Given the description of an element on the screen output the (x, y) to click on. 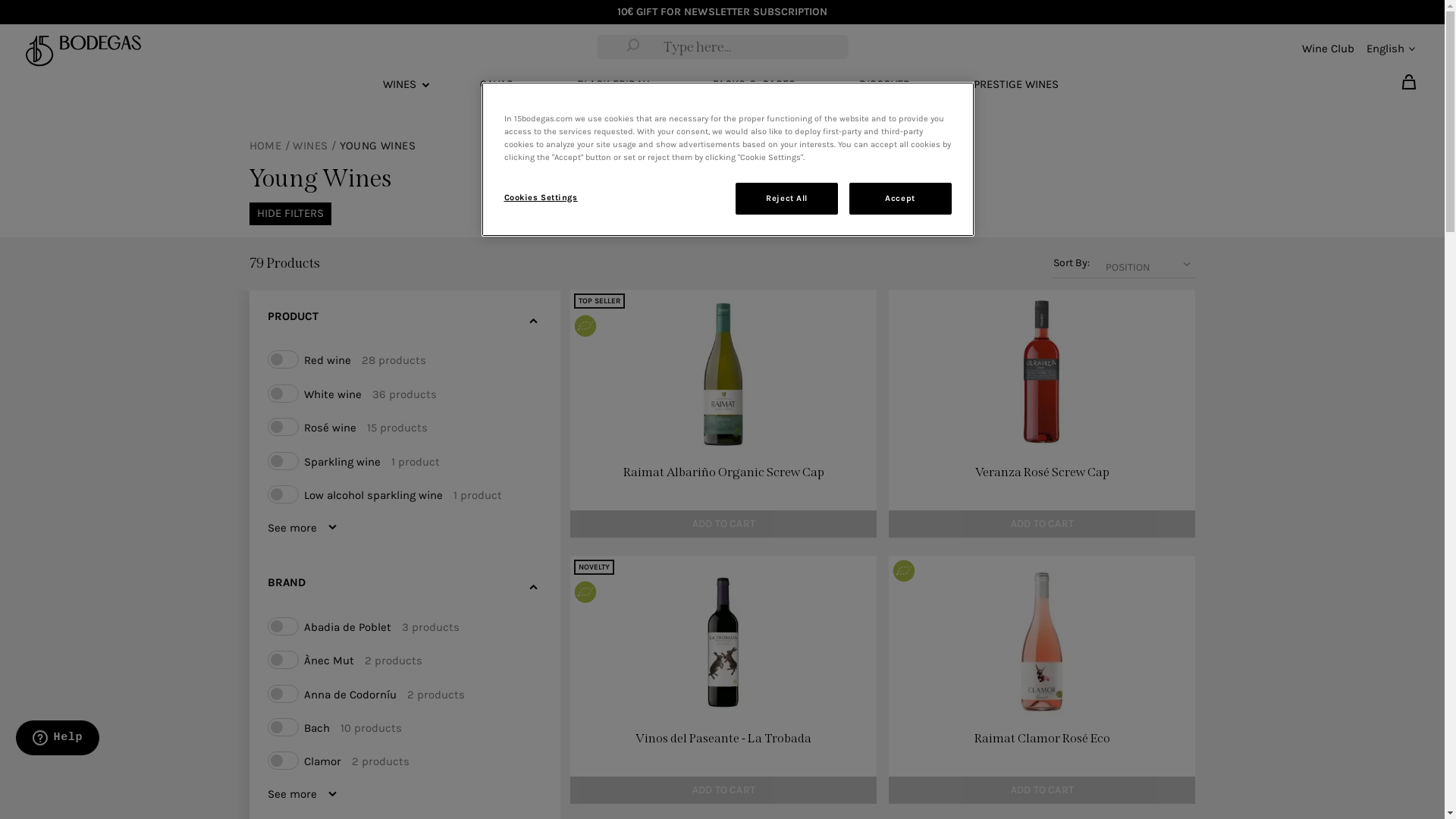
DISCOVER Element type: text (883, 84)
Reject All Element type: text (786, 198)
Bach 10 products Element type: text (404, 726)
White wine 36 products Element type: text (404, 393)
PACKS & CASES Element type: text (753, 84)
My Cart Element type: text (1408, 81)
Accept Element type: text (900, 198)
Vinos del Paseante - La Trobada Element type: text (723, 745)
CAVAS Element type: text (495, 84)
Wine Club Element type: text (1328, 48)
Cookies Settings Element type: text (554, 197)
HOME Element type: text (266, 145)
ADD TO CART Element type: text (723, 523)
Opens a widget where you can find more information Element type: hover (57, 739)
Type here... Element type: hover (632, 47)
PRESTIGE WINES Element type: text (1015, 84)
WINES Element type: text (398, 84)
Abadia de Poblet 3 products Element type: text (404, 626)
Red wine 28 products Element type: text (404, 359)
Clamor 2 products Element type: text (404, 760)
Low alcohol sparkling wine 1 product Element type: text (404, 494)
ADD TO CART Element type: text (1041, 789)
BLACK FRIDAY Element type: text (612, 84)
Sparkling wine 1 product Element type: text (404, 460)
ADD TO CART Element type: text (1041, 523)
ADD TO CART Element type: text (723, 789)
WINES Element type: text (311, 145)
